Given the description of an element on the screen output the (x, y) to click on. 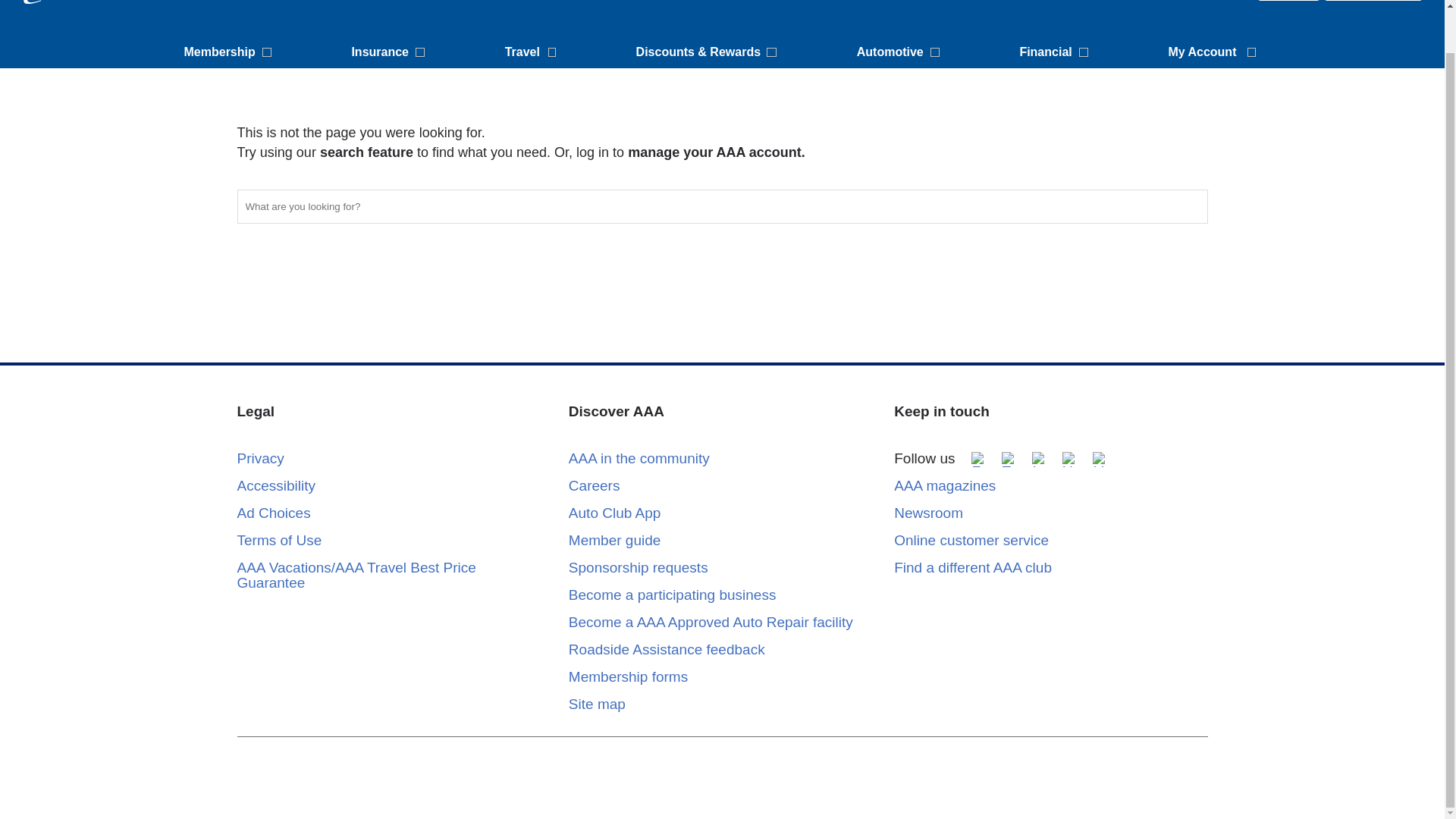
Search (1187, 205)
Automobile Club logo (52, 2)
Membership (229, 52)
Type search word (721, 206)
Insurance (389, 52)
Instagram (1039, 459)
Travel (532, 52)
LinkedIn (1100, 459)
YouTube (1069, 459)
My Account (1214, 52)
